Given the description of an element on the screen output the (x, y) to click on. 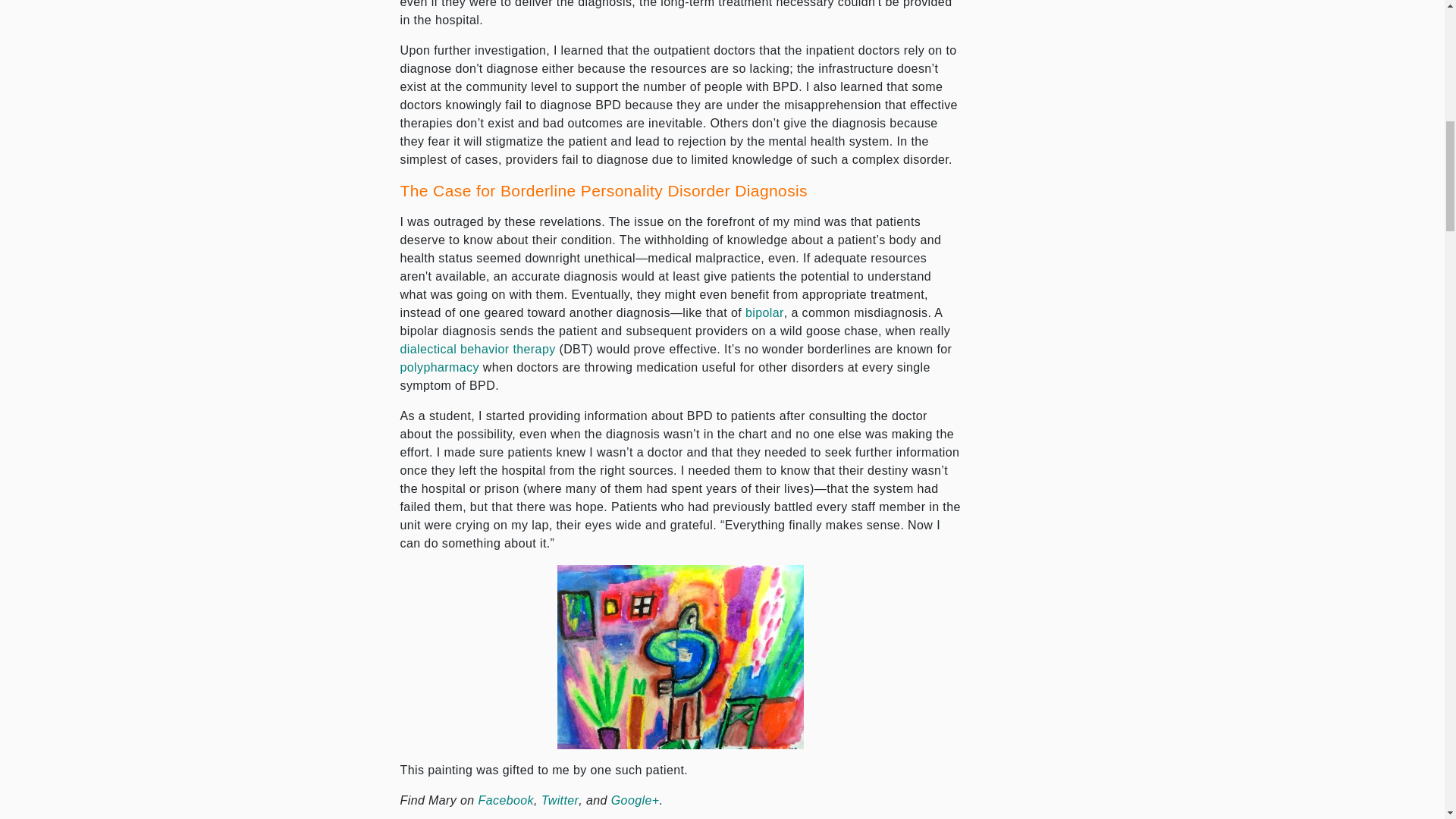
The Underdiagnosis of Borderline Personality Disorder (680, 657)
Drug Cocktails for Mental Illness (439, 367)
Mary Hofert on Twitter (560, 799)
What is Bipolar Disorder? (764, 312)
Mary Hofert on Facebook (506, 799)
